Given the description of an element on the screen output the (x, y) to click on. 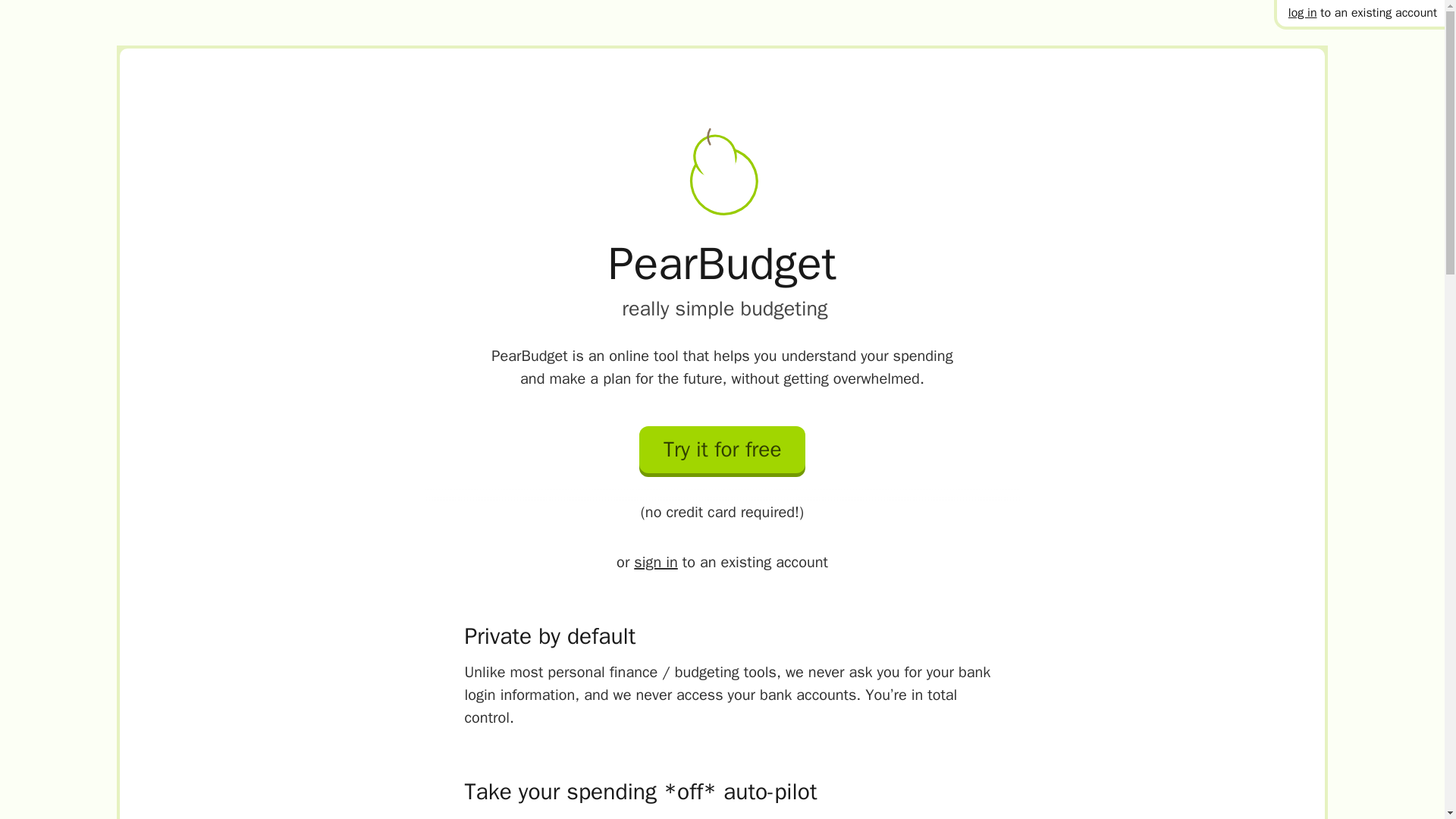
Try it for free (722, 452)
or sign in to an existing account (721, 562)
